Given the description of an element on the screen output the (x, y) to click on. 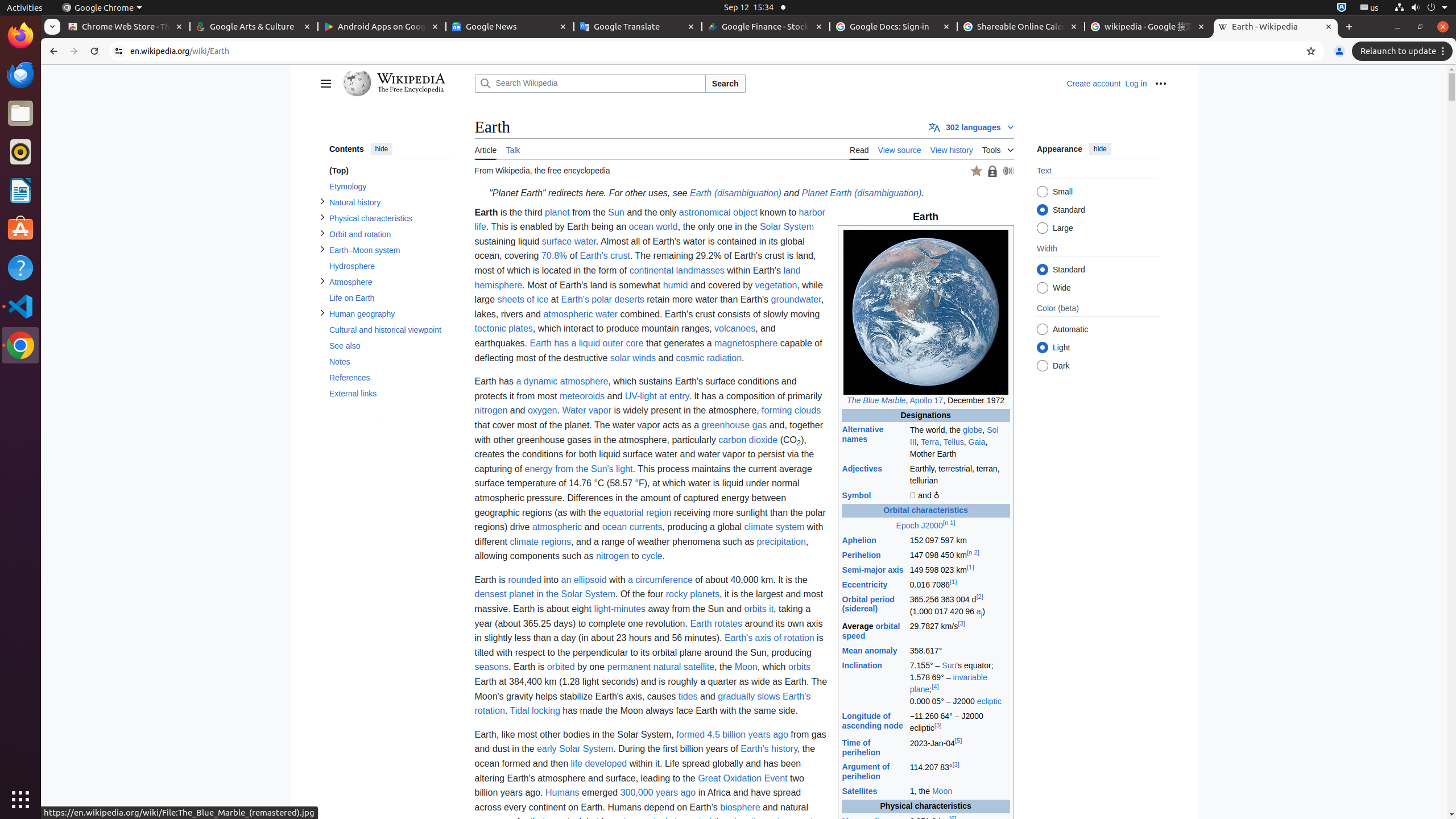
[2] Element type: link (979, 596)
planet Element type: link (556, 212)
Water vapor Element type: link (586, 410)
Hydrosphere Element type: link (390, 266)
formed 4.5 billion years ago Element type: link (732, 734)
